Given the description of an element on the screen output the (x, y) to click on. 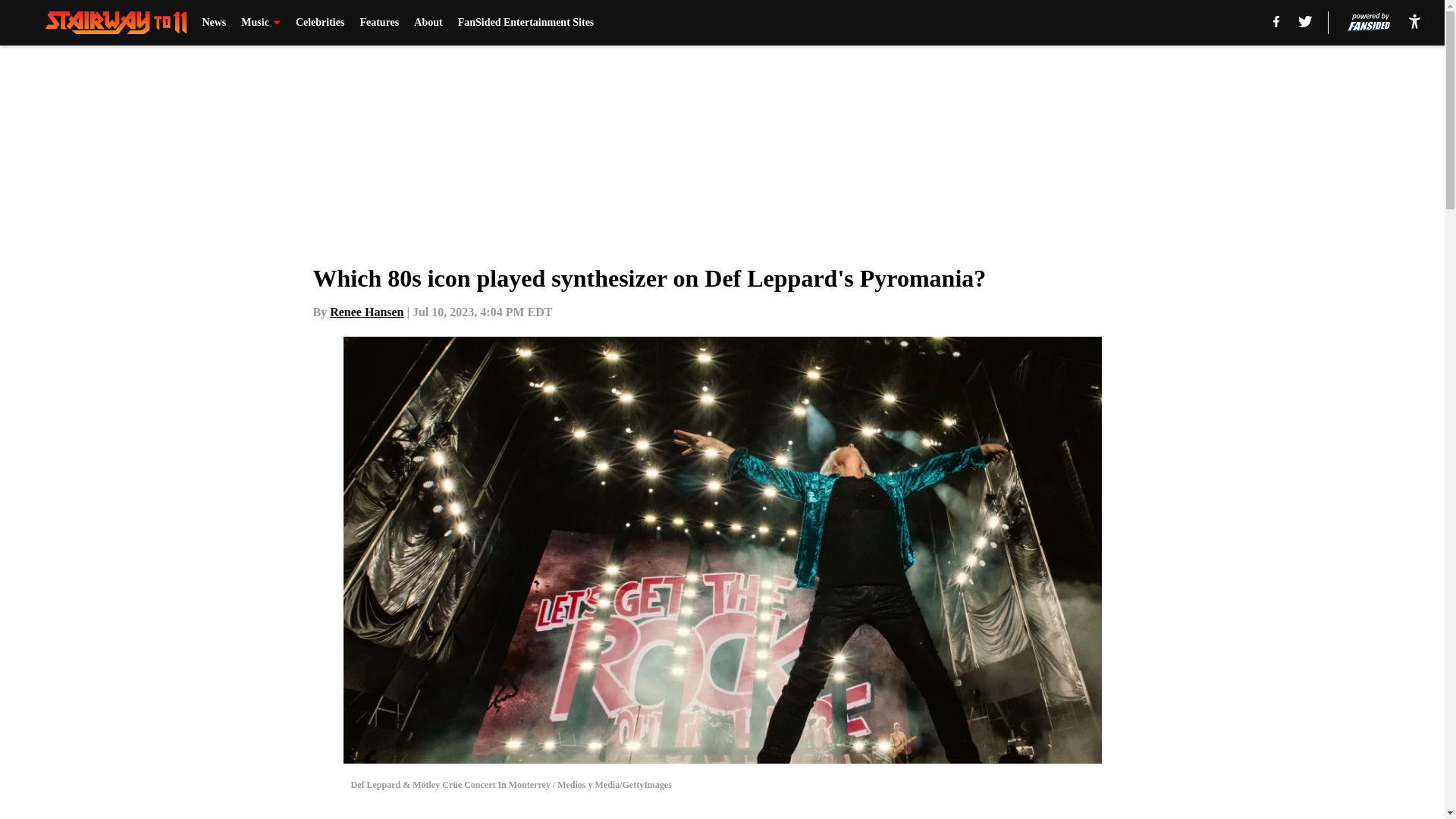
Celebrities (320, 22)
Features (378, 22)
About (427, 22)
Renee Hansen (366, 311)
FanSided Entertainment Sites (526, 22)
Music (261, 22)
News (213, 22)
